Given the description of an element on the screen output the (x, y) to click on. 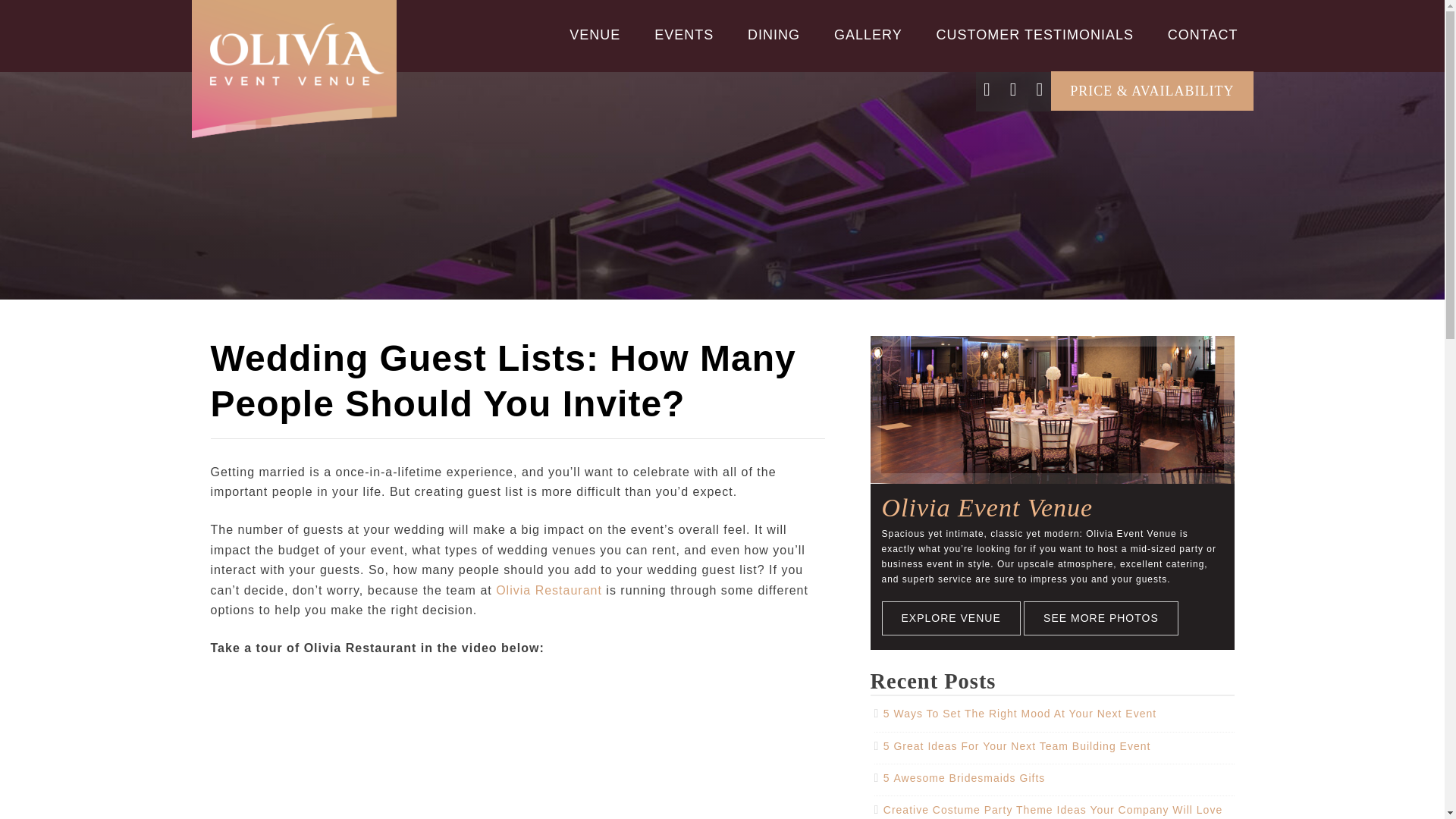
Olivia Restaurant (549, 590)
5 Ways To Set The Right Mood At Your Next Event (1019, 713)
Event Venue (594, 35)
Contact Us (1203, 35)
SEE MORE PHOTOS (1100, 618)
5 Awesome Bridesmaids Gifts (964, 777)
CONTACT (1203, 35)
GALLERY (867, 35)
5 Great Ideas For Your Next Team Building Event (1017, 746)
VENUE (594, 35)
Customer Testimonials (1034, 35)
EVENTS (684, 35)
Creative Costume Party Theme Ideas Your Company Will Love (1053, 809)
CUSTOMER TESTIMONIALS (1034, 35)
DINING (773, 35)
